Given the description of an element on the screen output the (x, y) to click on. 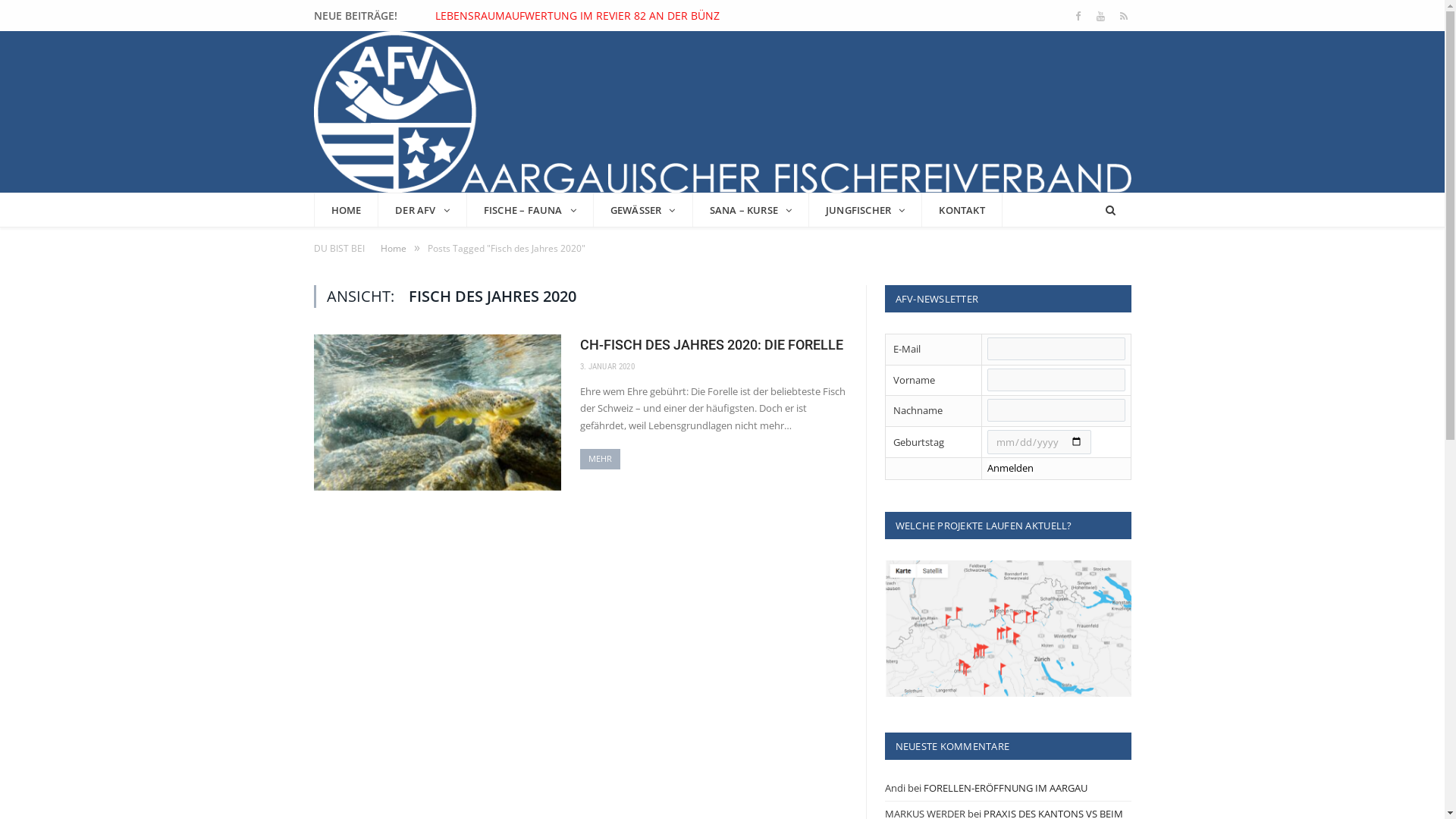
Aargauischer Fischereiverband (AFV) Element type: hover (722, 108)
RSS Element type: text (1123, 16)
HOME Element type: text (346, 209)
CH-FISCH DES JAHRES 2020: DIE FORELLE Element type: text (712, 344)
DER AFV Element type: text (422, 209)
CH-FISCH DES JAHRES 2020: DIE FORELLE Element type: hover (437, 411)
Youtube Element type: text (1100, 16)
Anmelden Element type: text (1010, 467)
JUNGFISCHER Element type: text (865, 209)
KONTAKT Element type: text (961, 209)
Home Element type: text (393, 247)
Suche Element type: hover (1109, 210)
MEHR Element type: text (599, 458)
